Given the description of an element on the screen output the (x, y) to click on. 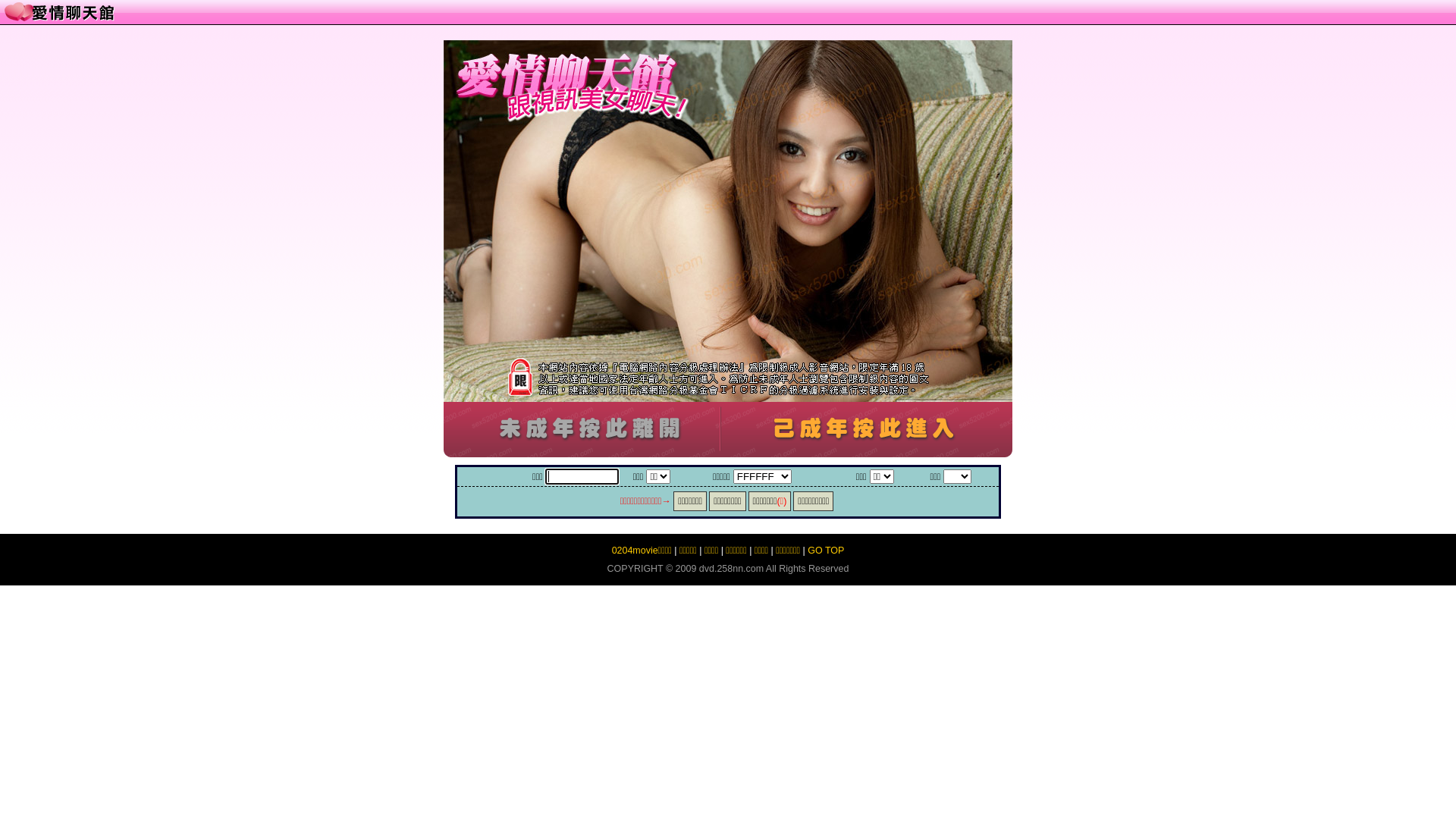
GO TOP Element type: text (825, 550)
dvd.258nn.com Element type: text (731, 568)
